Given the description of an element on the screen output the (x, y) to click on. 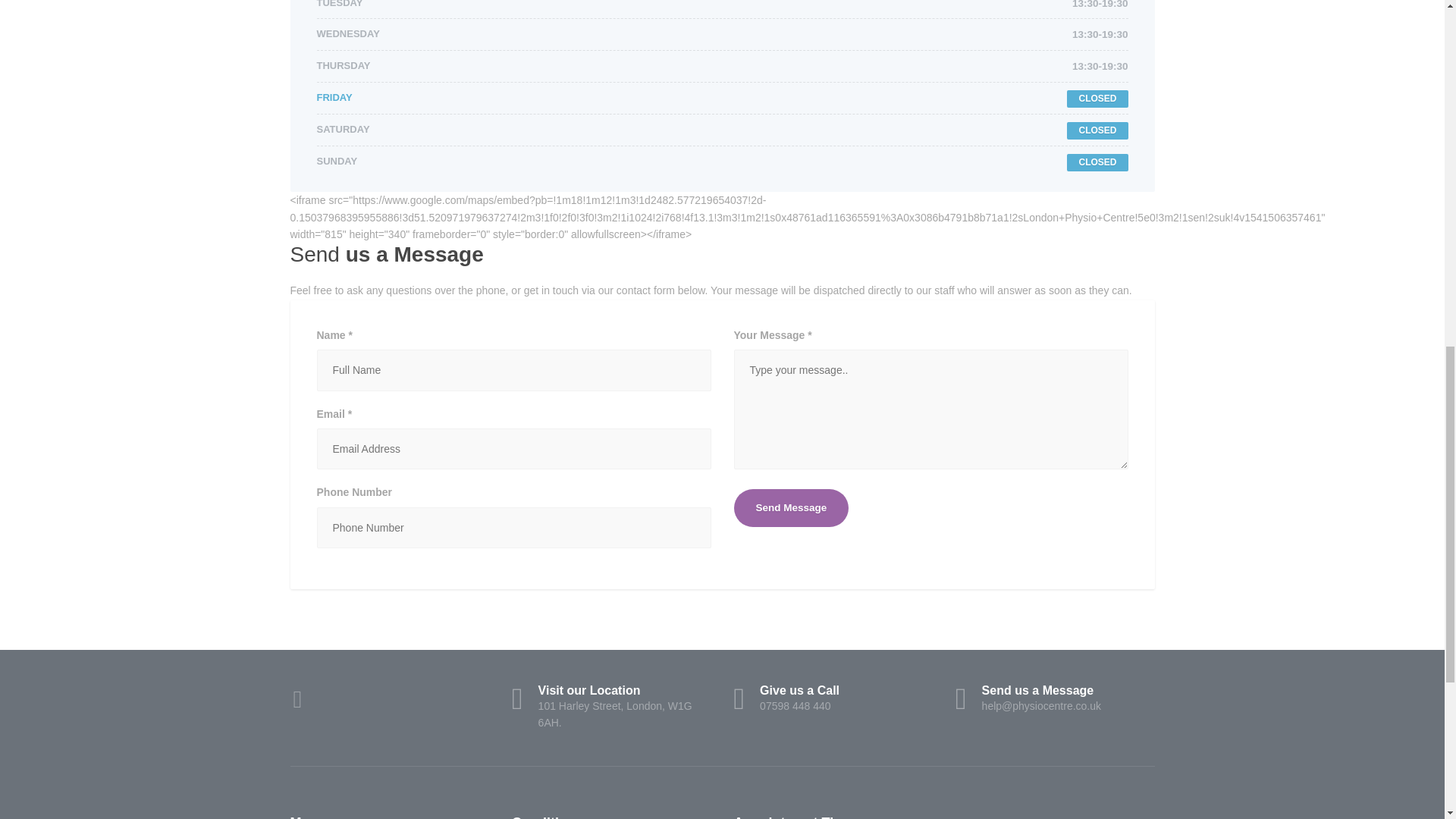
Send Message (790, 507)
Send Message (790, 507)
